Given the description of an element on the screen output the (x, y) to click on. 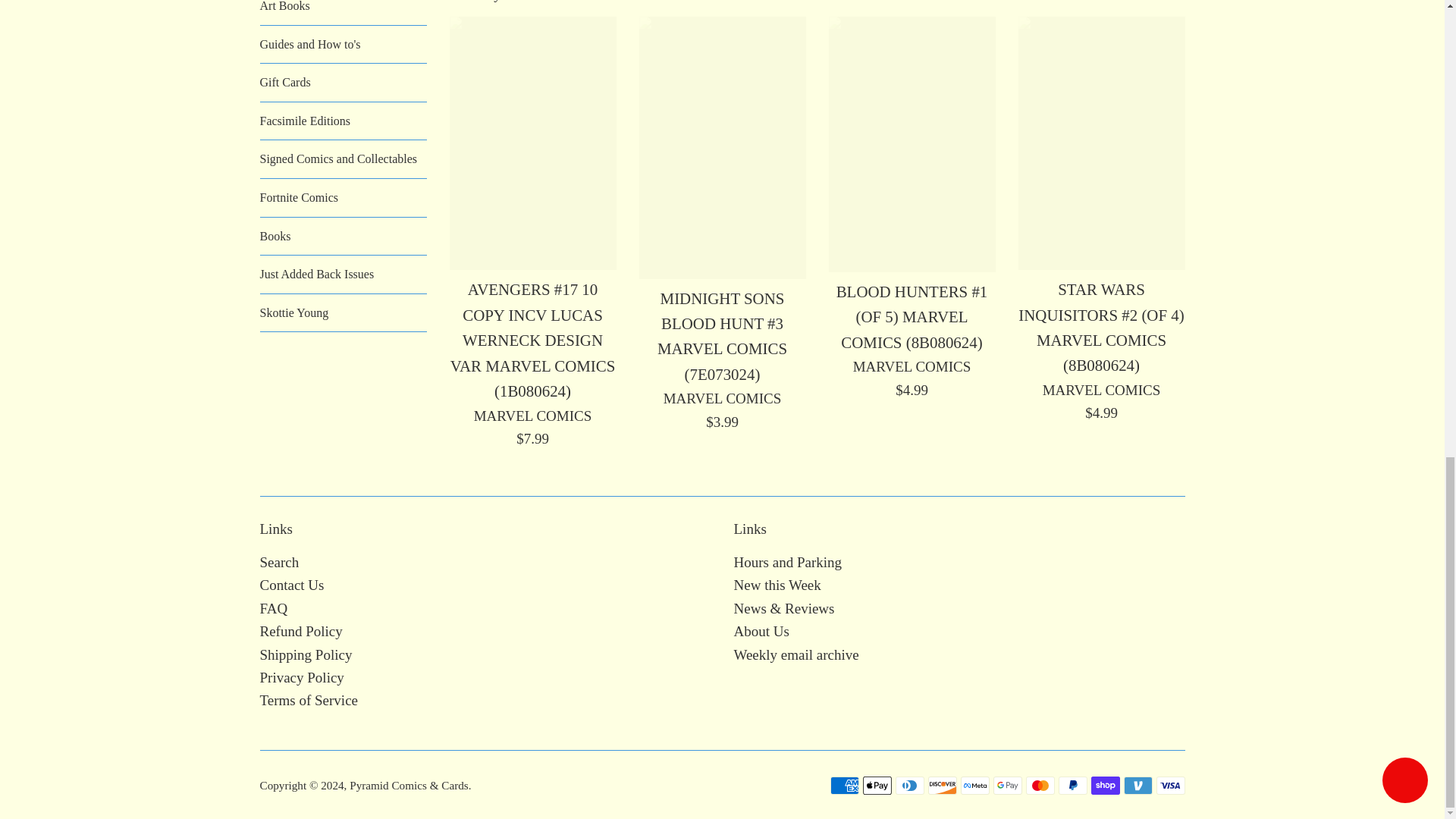
American Express (844, 785)
Apple Pay (877, 785)
Meta Pay (973, 785)
Discover (942, 785)
Venmo (1138, 785)
Diners Club (909, 785)
Google Pay (1007, 785)
PayPal (1072, 785)
Mastercard (1039, 785)
Visa (1170, 785)
